Given the description of an element on the screen output the (x, y) to click on. 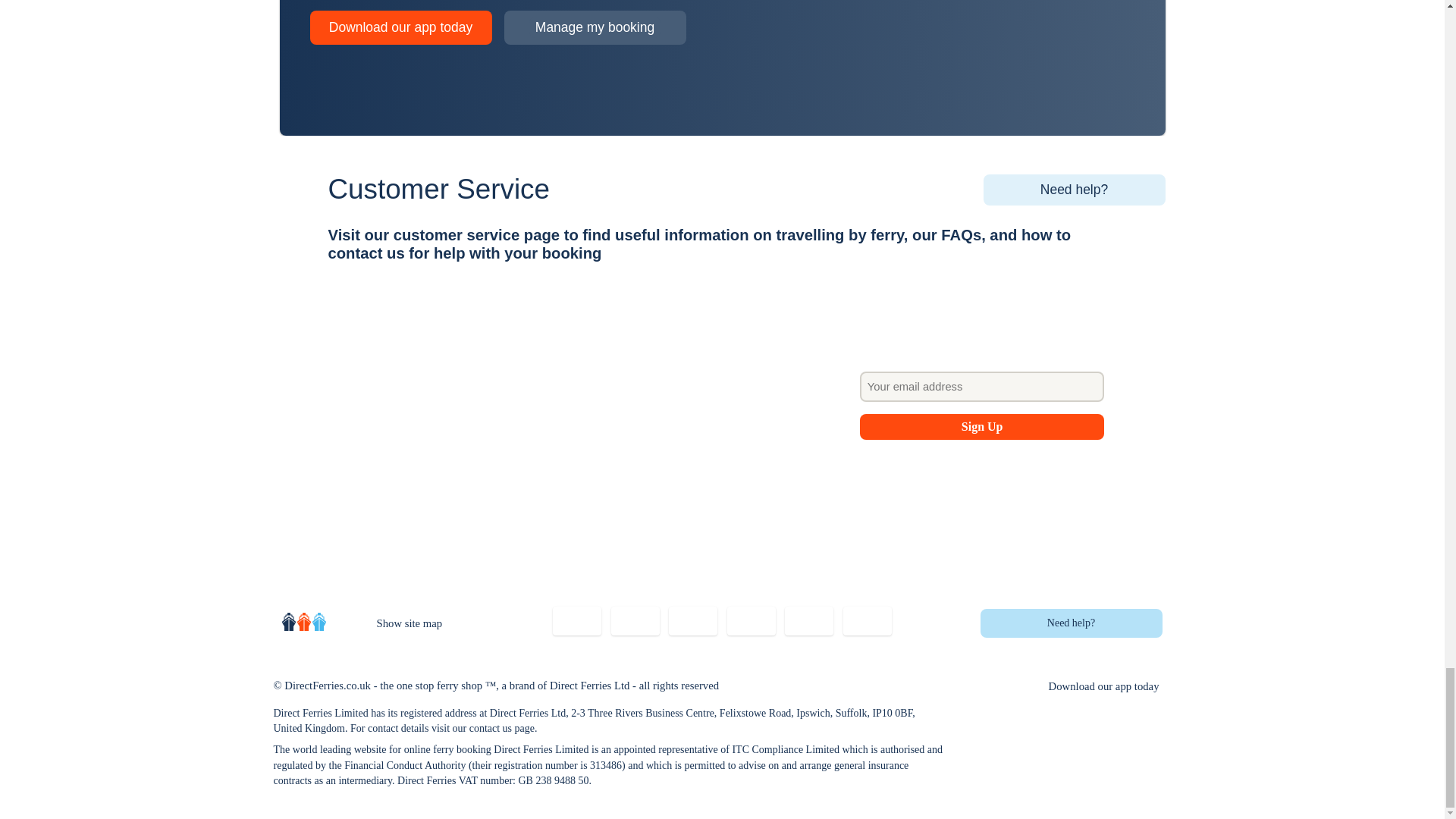
Sign Up (982, 426)
